Given the description of an element on the screen output the (x, y) to click on. 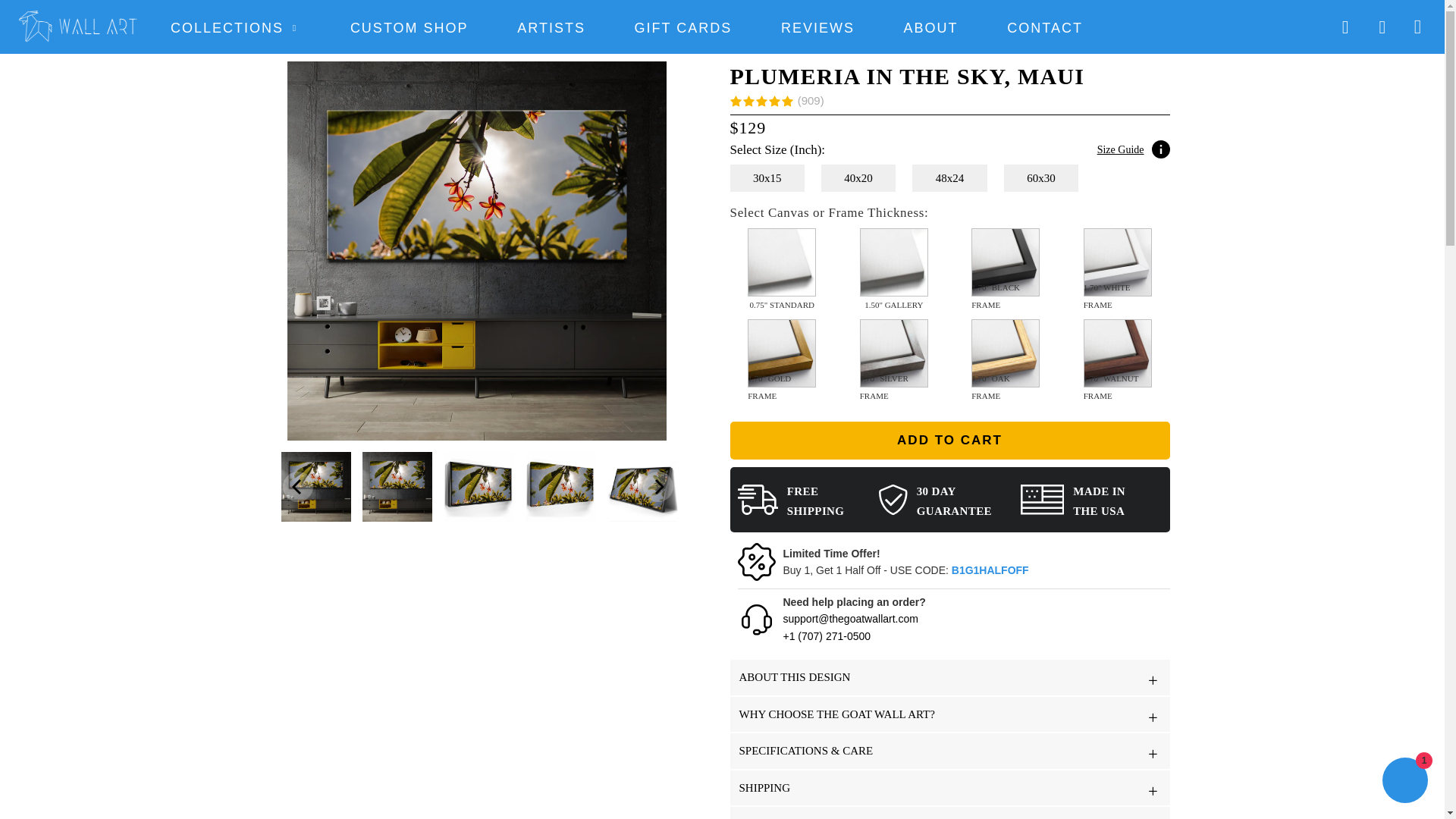
TheGOATWallArt (76, 26)
Call The GOAT Wall Art (1383, 27)
